Given the description of an element on the screen output the (x, y) to click on. 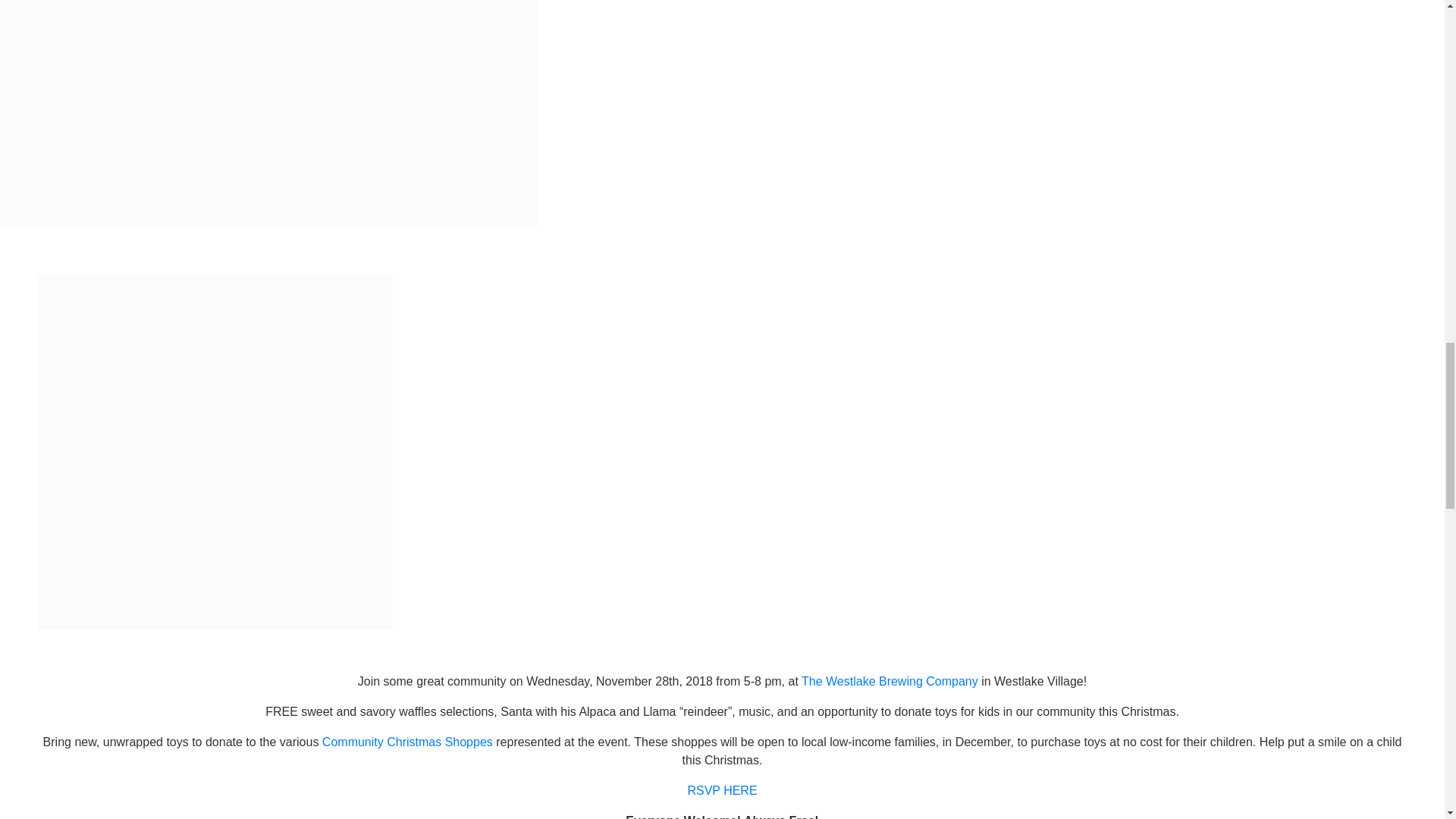
RSVP HERE (722, 789)
The Westlake Brewing Company (890, 680)
Community Christmas Shoppes (407, 741)
